Given the description of an element on the screen output the (x, y) to click on. 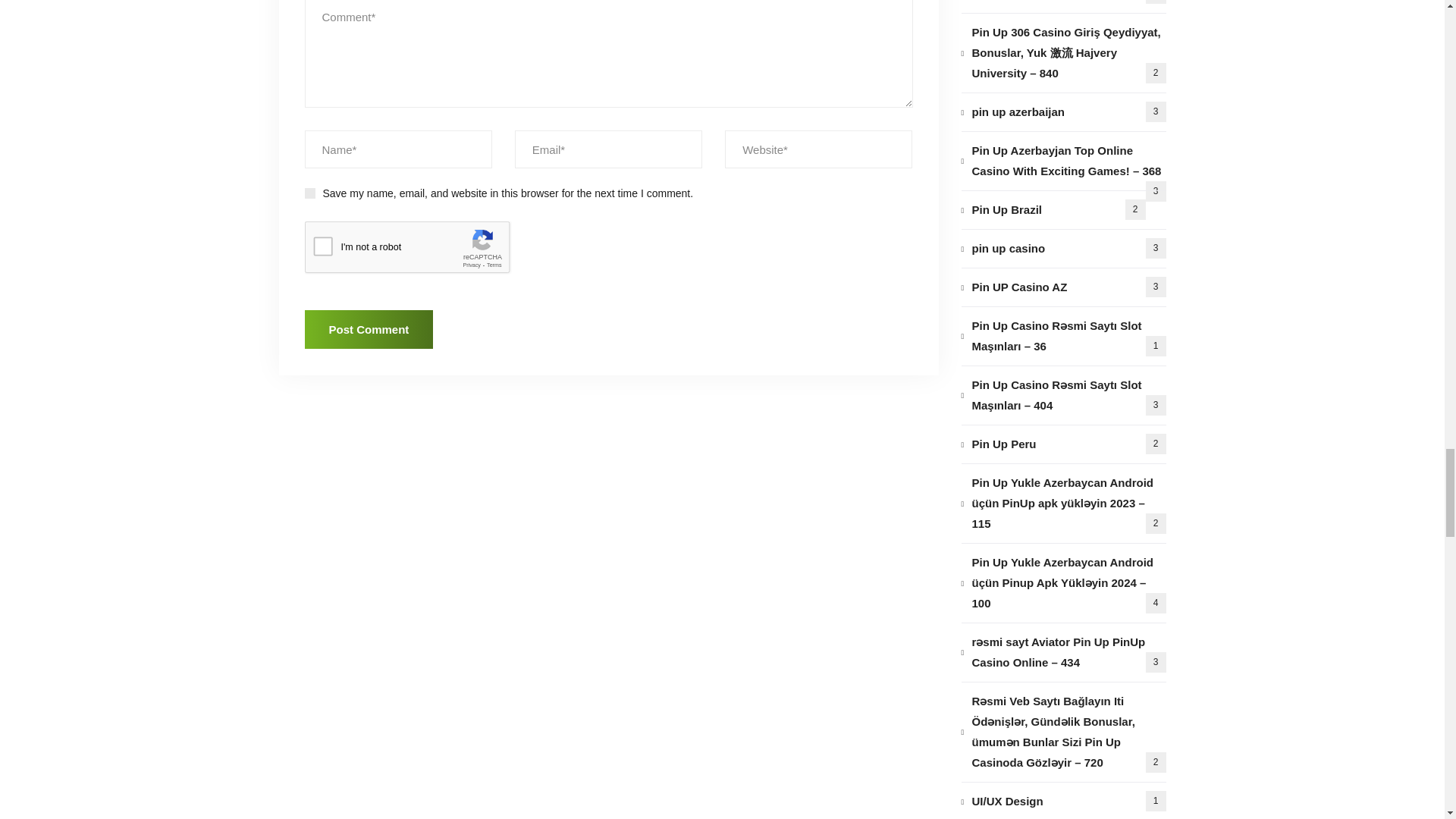
reCAPTCHA (419, 250)
Post Comment (368, 329)
